Given the description of an element on the screen output the (x, y) to click on. 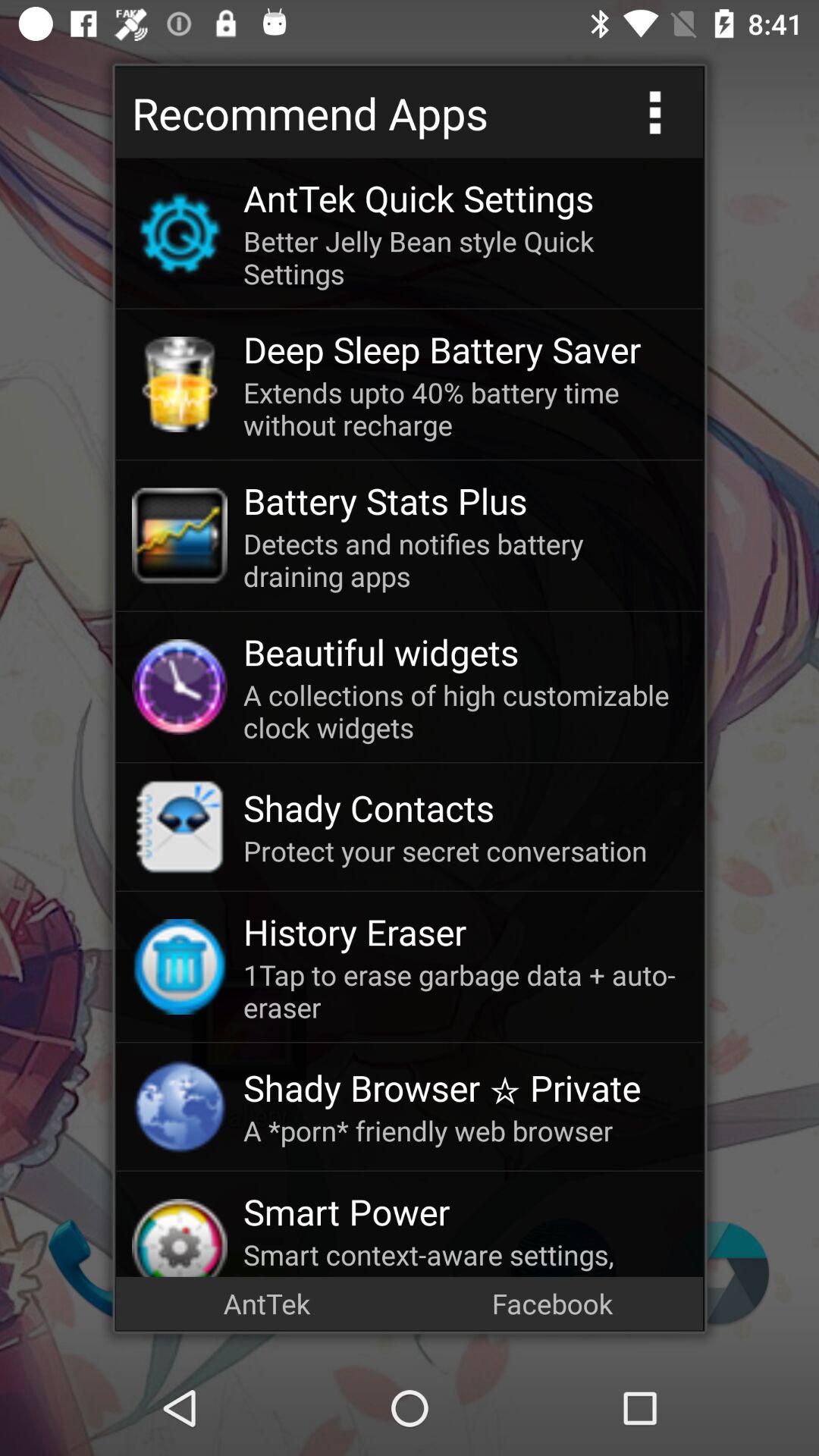
open protect your secret (465, 850)
